Given the description of an element on the screen output the (x, y) to click on. 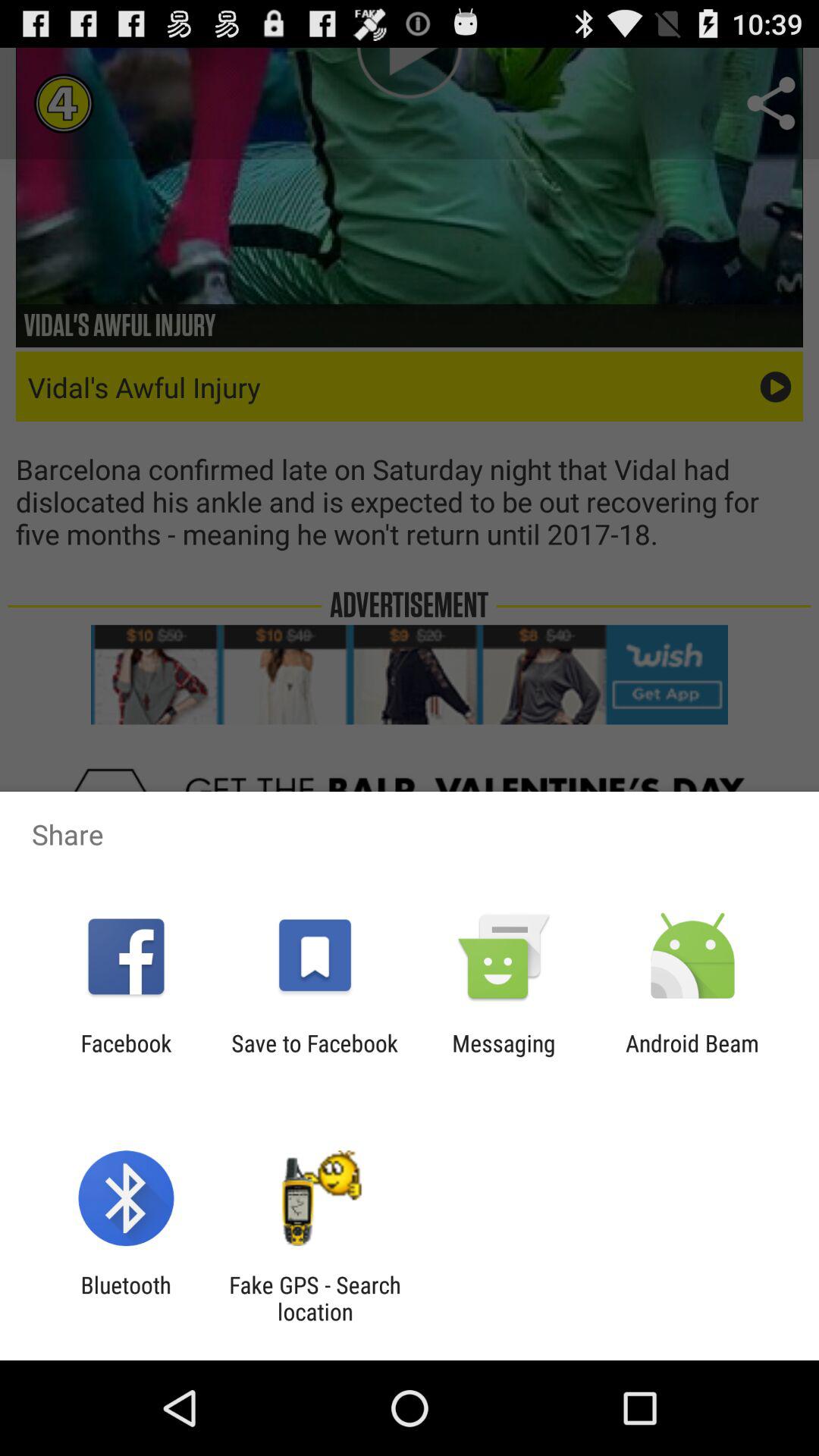
turn on icon next to facebook item (314, 1056)
